Given the description of an element on the screen output the (x, y) to click on. 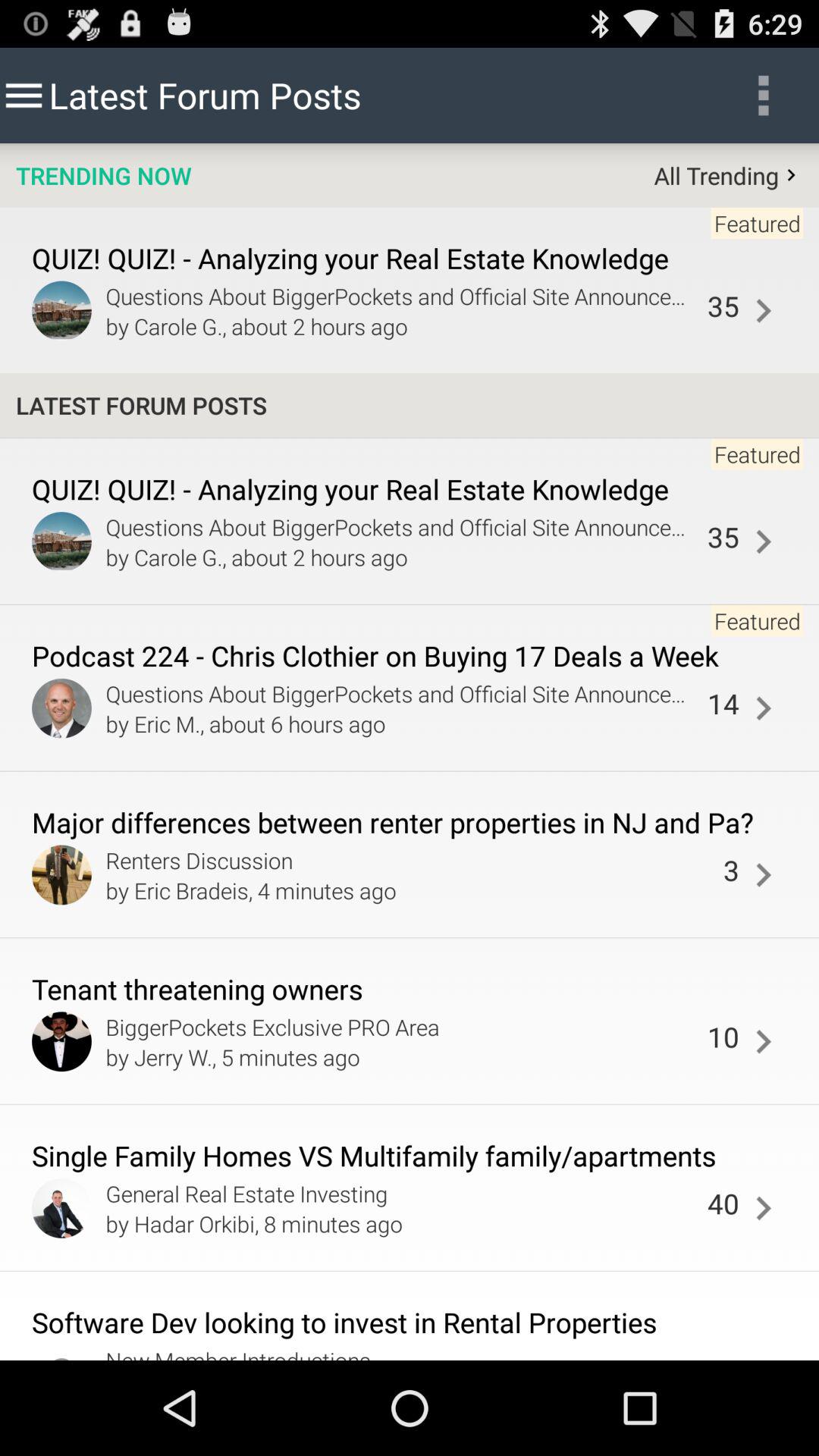
open the icon next to the 40 app (763, 1208)
